Given the description of an element on the screen output the (x, y) to click on. 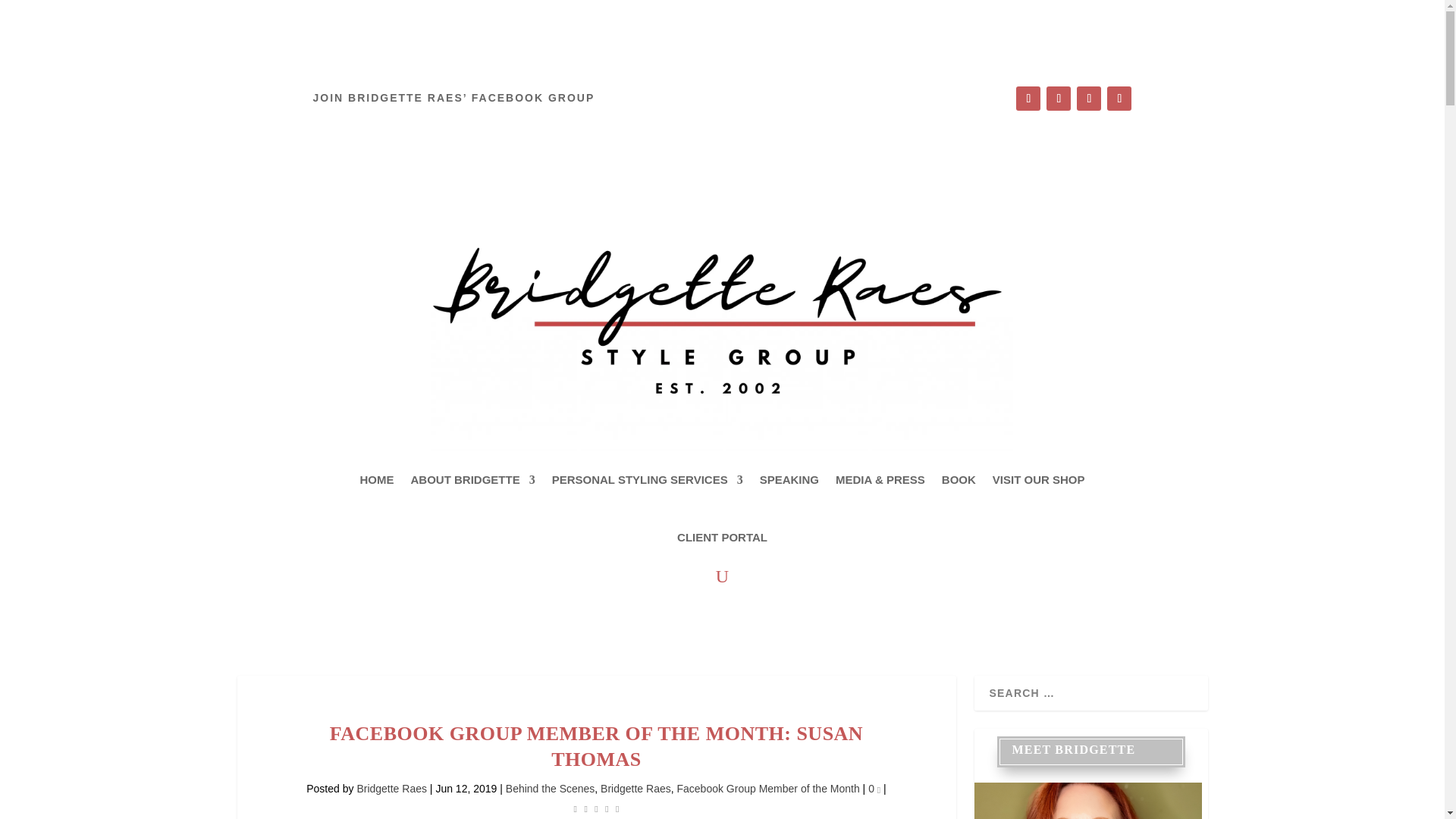
0 (873, 788)
Behind the Scenes (550, 788)
PERSONAL STYLING SERVICES (646, 479)
Follow on Youtube (1118, 98)
Rating: 0.00 (596, 808)
Bridgette Raes (635, 788)
VISIT OUR SHOP (1038, 479)
Facebook Group Member of the Month (768, 788)
SPEAKING (789, 479)
ABOUT BRIDGETTE (472, 479)
